Given the description of an element on the screen output the (x, y) to click on. 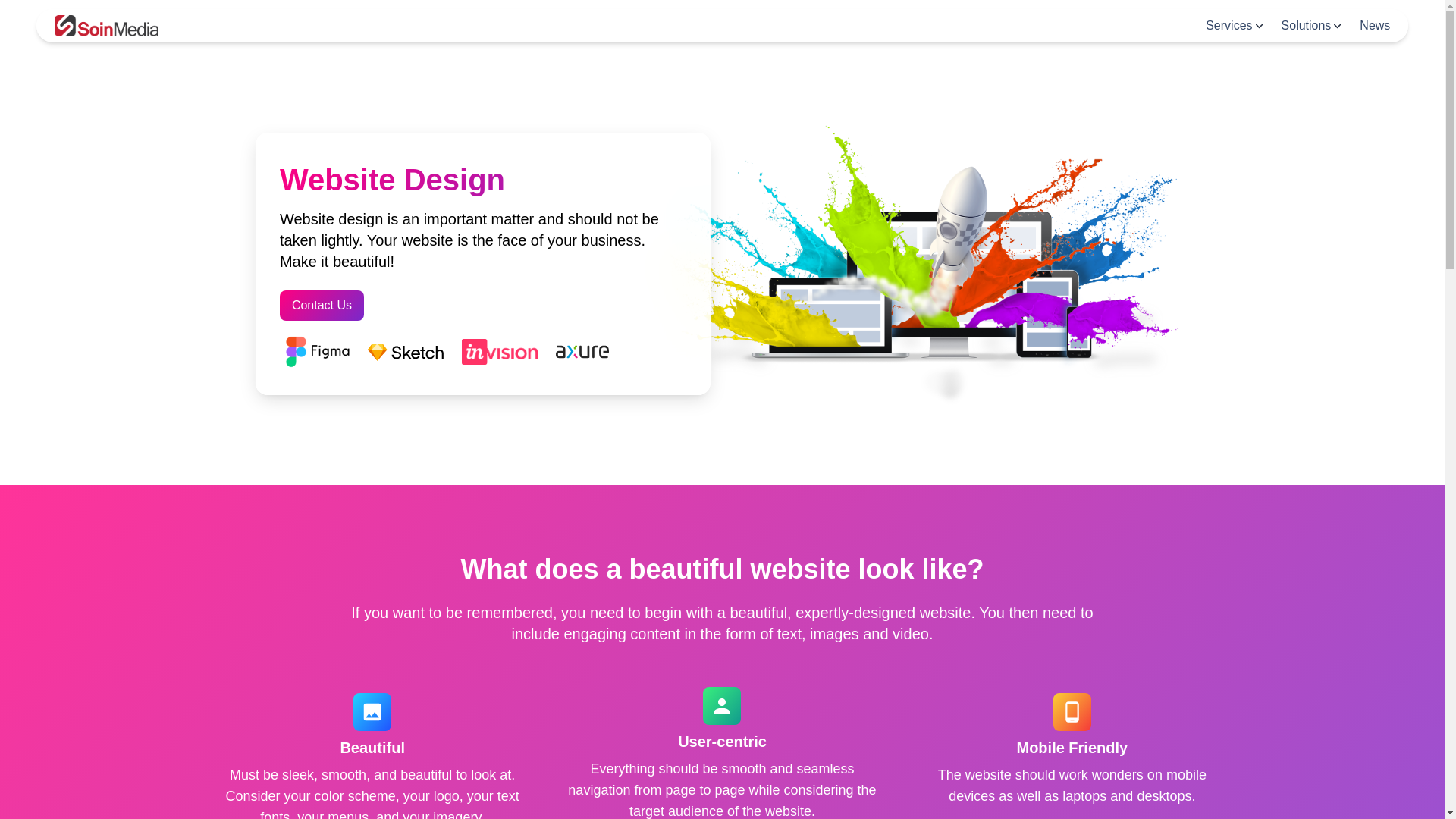
Contact Us (321, 305)
Contact Us (321, 305)
News (1374, 25)
